Given the description of an element on the screen output the (x, y) to click on. 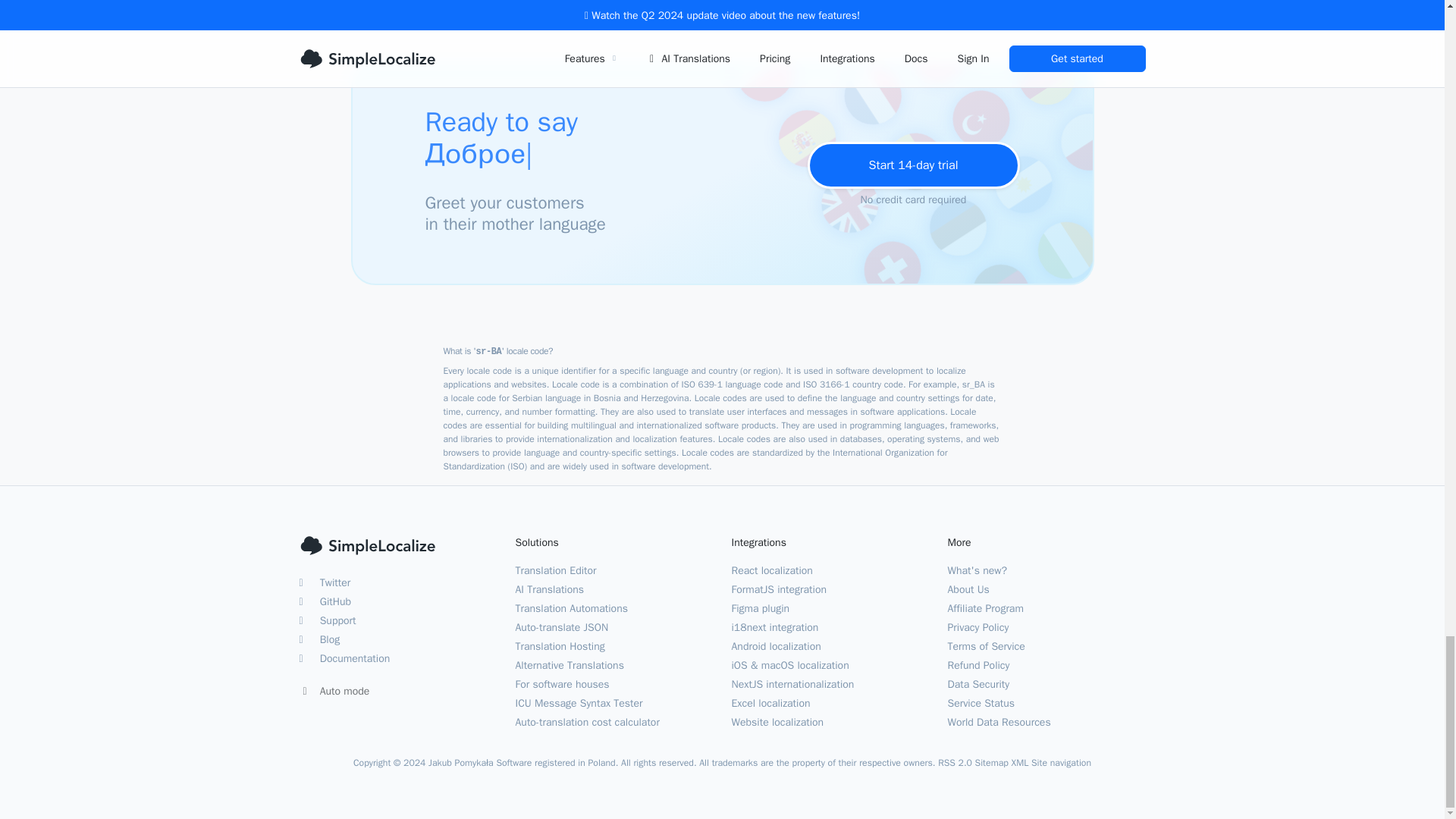
 Blog (318, 639)
 Support (326, 620)
Host your translations in the cloud (560, 645)
Translation management for software houses (562, 684)
Start 14-day trial (912, 165)
 Twitter (324, 582)
 GitHub (324, 601)
AI translations (550, 589)
Online i18n editor (555, 570)
Override base translations for each customer or user (569, 665)
